Given the description of an element on the screen output the (x, y) to click on. 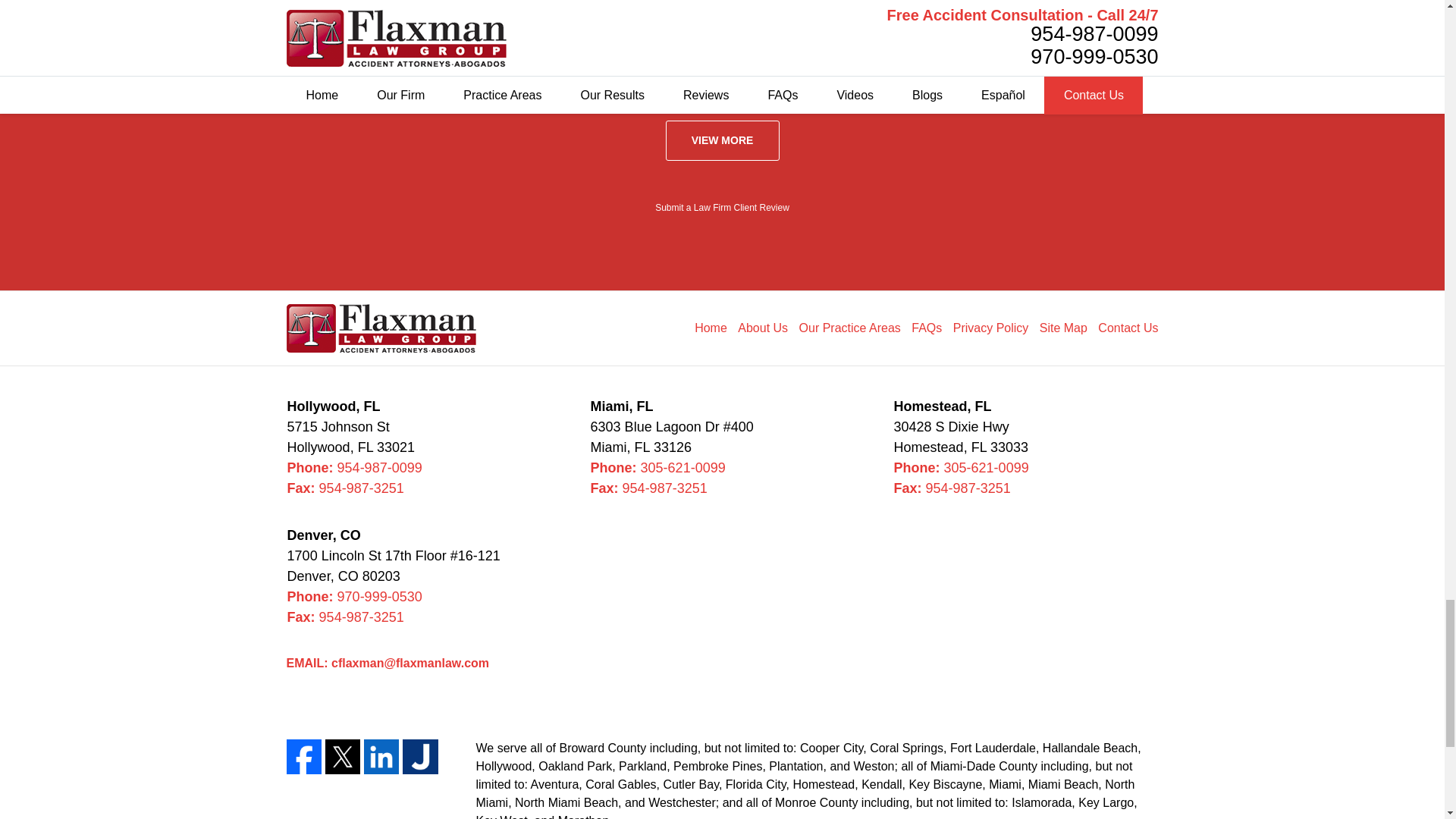
LinkedIn (381, 756)
Justia (420, 756)
Facebook (303, 756)
Twitter (341, 756)
